Given the description of an element on the screen output the (x, y) to click on. 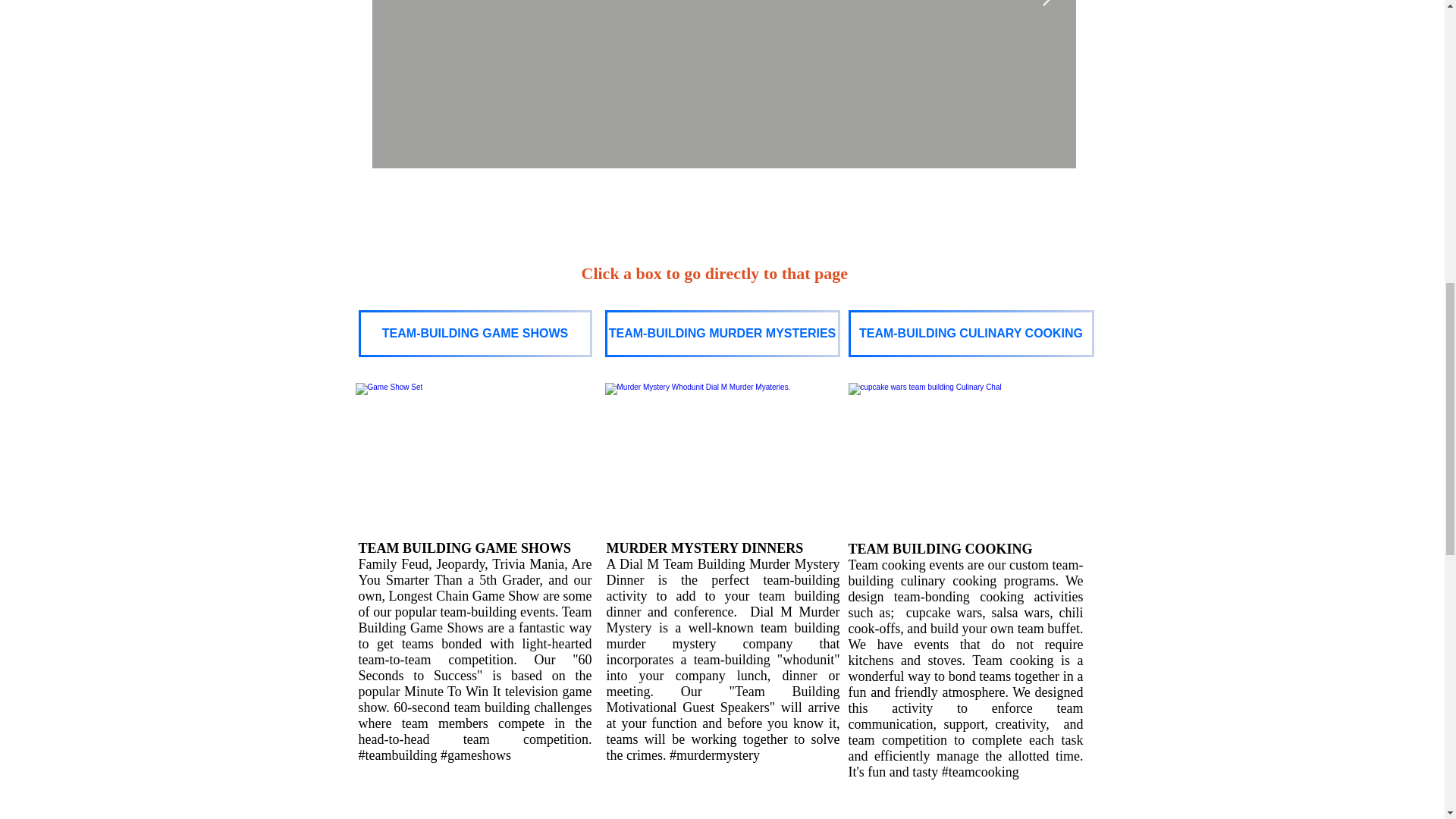
TEAM-BUILDING GAME SHOWS (474, 333)
TEAM-BUILDING MURDER MYSTERIES (722, 333)
TEAM-BUILDING CULINARY COOKING (970, 333)
